Given the description of an element on the screen output the (x, y) to click on. 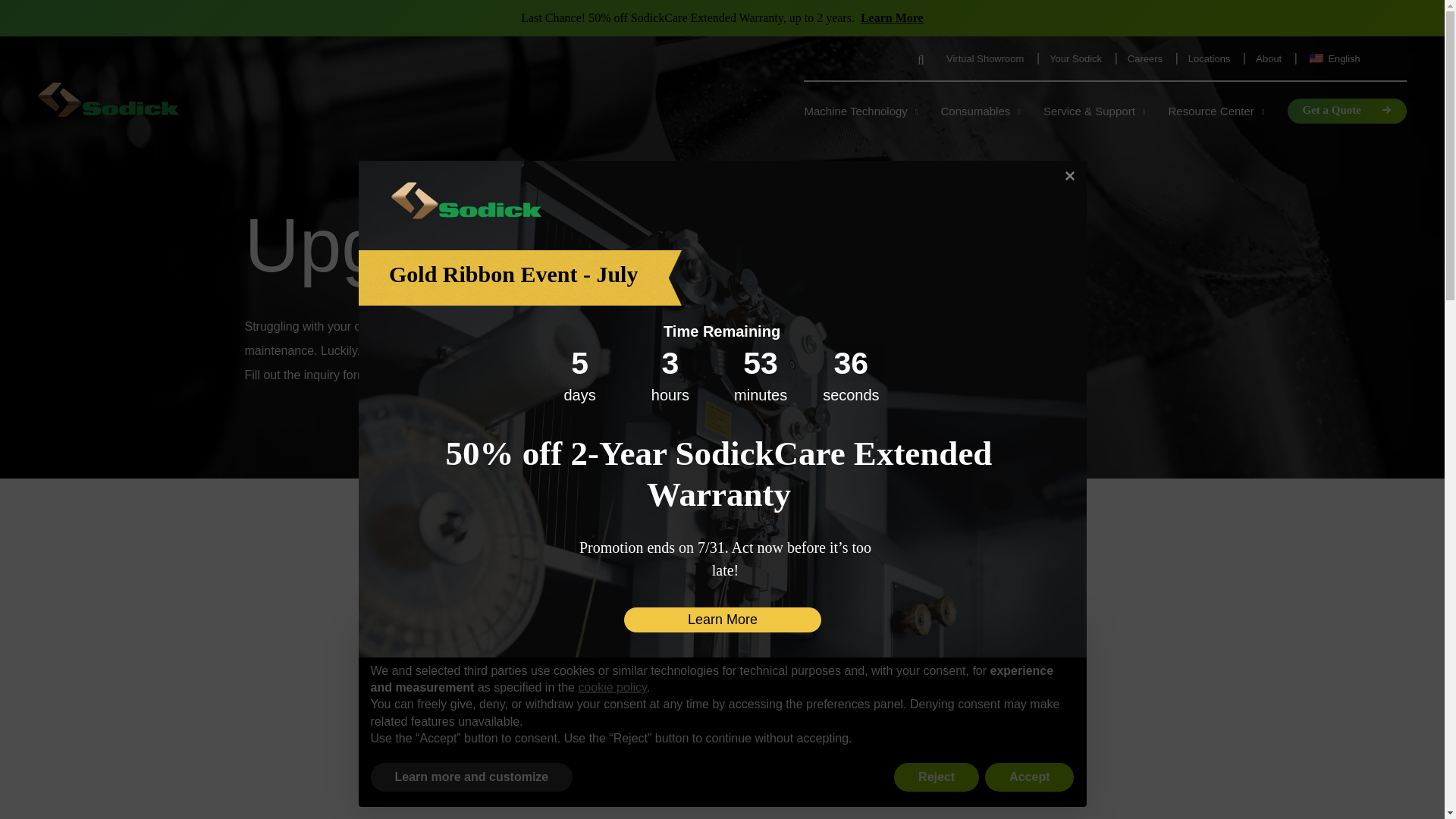
English (1356, 58)
English (1356, 58)
About (1269, 58)
Virtual Showroom (986, 58)
Careers (1146, 58)
Locations (1210, 58)
Your Sodick (1077, 58)
Learn More (891, 17)
Consumables (980, 110)
Machine Technology (860, 110)
Sodick Inc. (108, 101)
English (1315, 58)
